Given the description of an element on the screen output the (x, y) to click on. 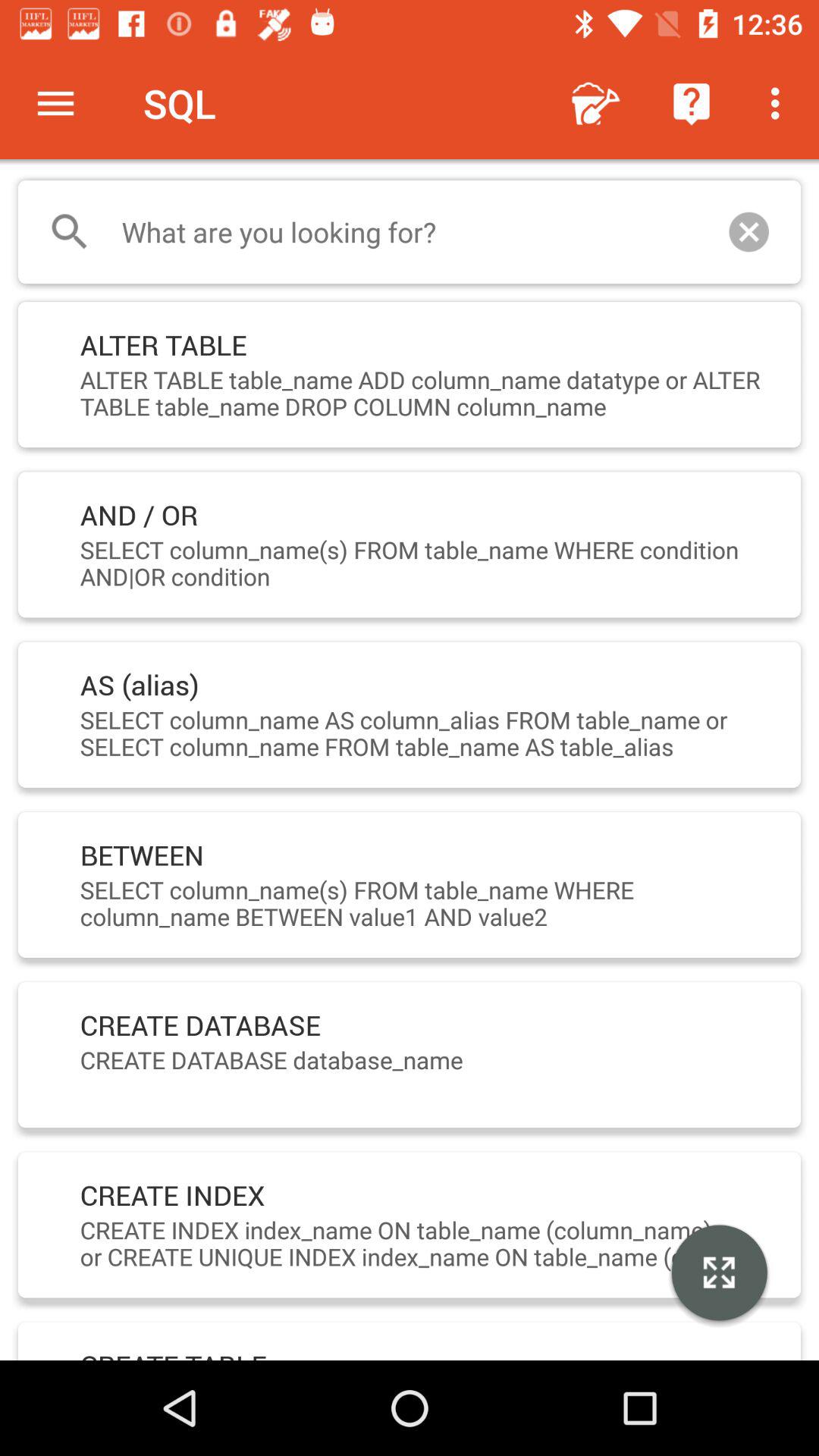
click icon at the bottom right corner (719, 1274)
